Given the description of an element on the screen output the (x, y) to click on. 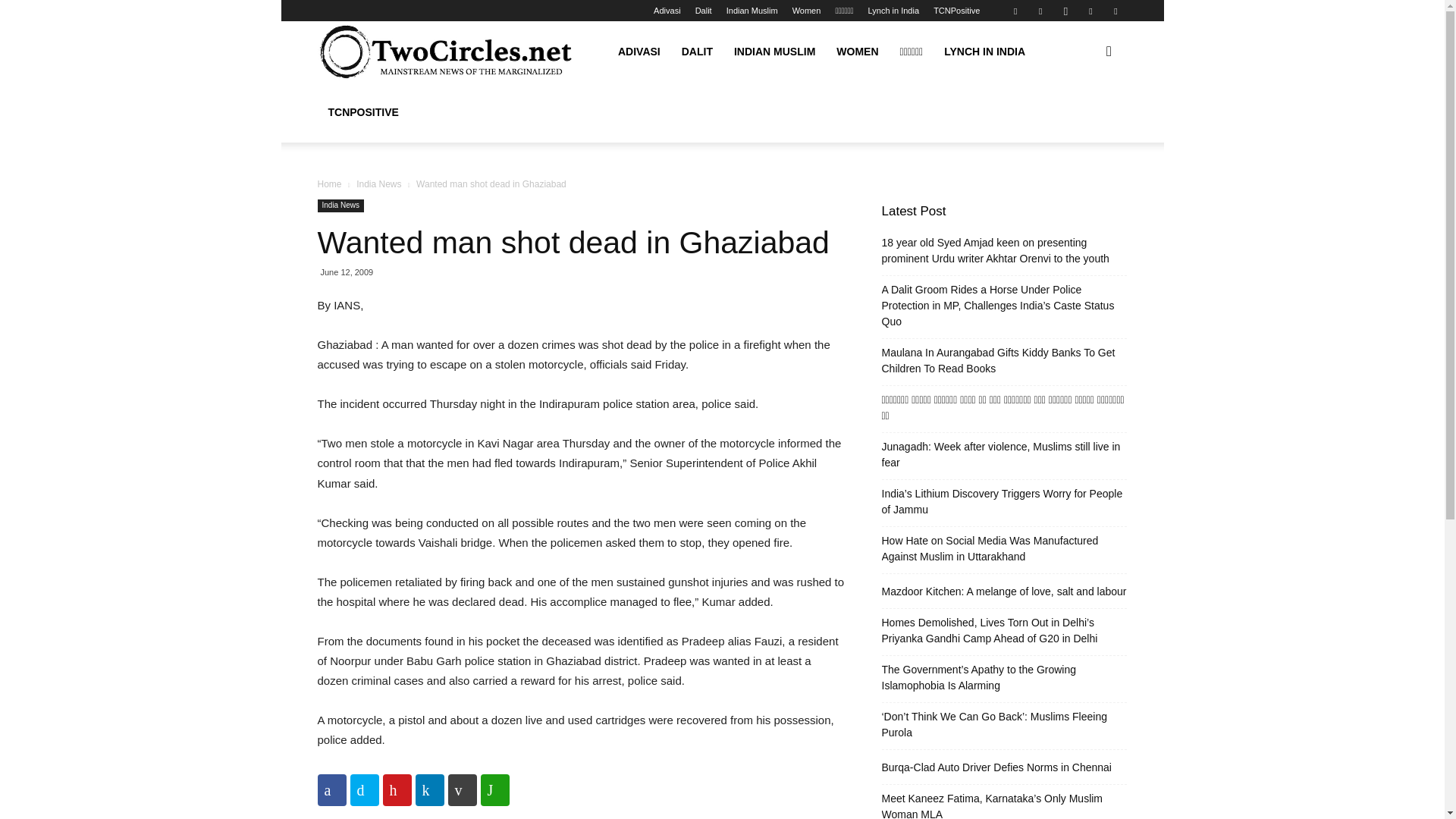
INDIAN MUSLIM (774, 51)
Indian Muslim (751, 10)
Share on Pinterest (395, 789)
Search (1085, 124)
LYNCH IN INDIA (984, 51)
TCNPositive (956, 10)
WOMEN (856, 51)
TCNPOSITIVE (363, 111)
Youtube (1114, 10)
Share on LinkedIn (429, 789)
Home (328, 184)
Dalit (703, 10)
Women (806, 10)
Share on Facebook (331, 789)
TwoCircles.net (446, 51)
